Given the description of an element on the screen output the (x, y) to click on. 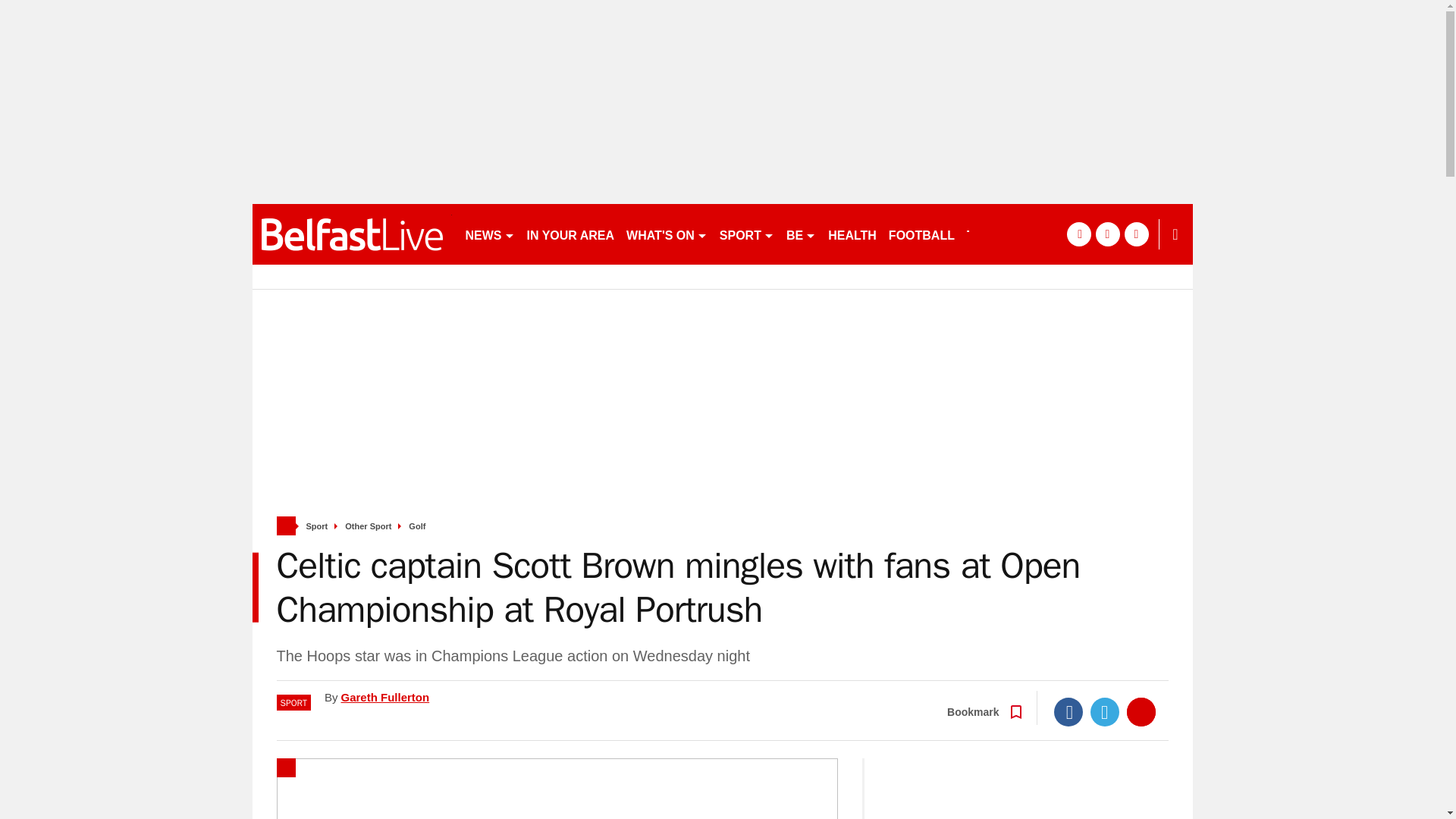
Facebook (1068, 711)
NEWS (490, 233)
facebook (1077, 233)
instagram (1136, 233)
SPORT (746, 233)
IN YOUR AREA (569, 233)
Twitter (1104, 711)
twitter (1106, 233)
WHAT'S ON (666, 233)
belfastlive (351, 233)
